Given the description of an element on the screen output the (x, y) to click on. 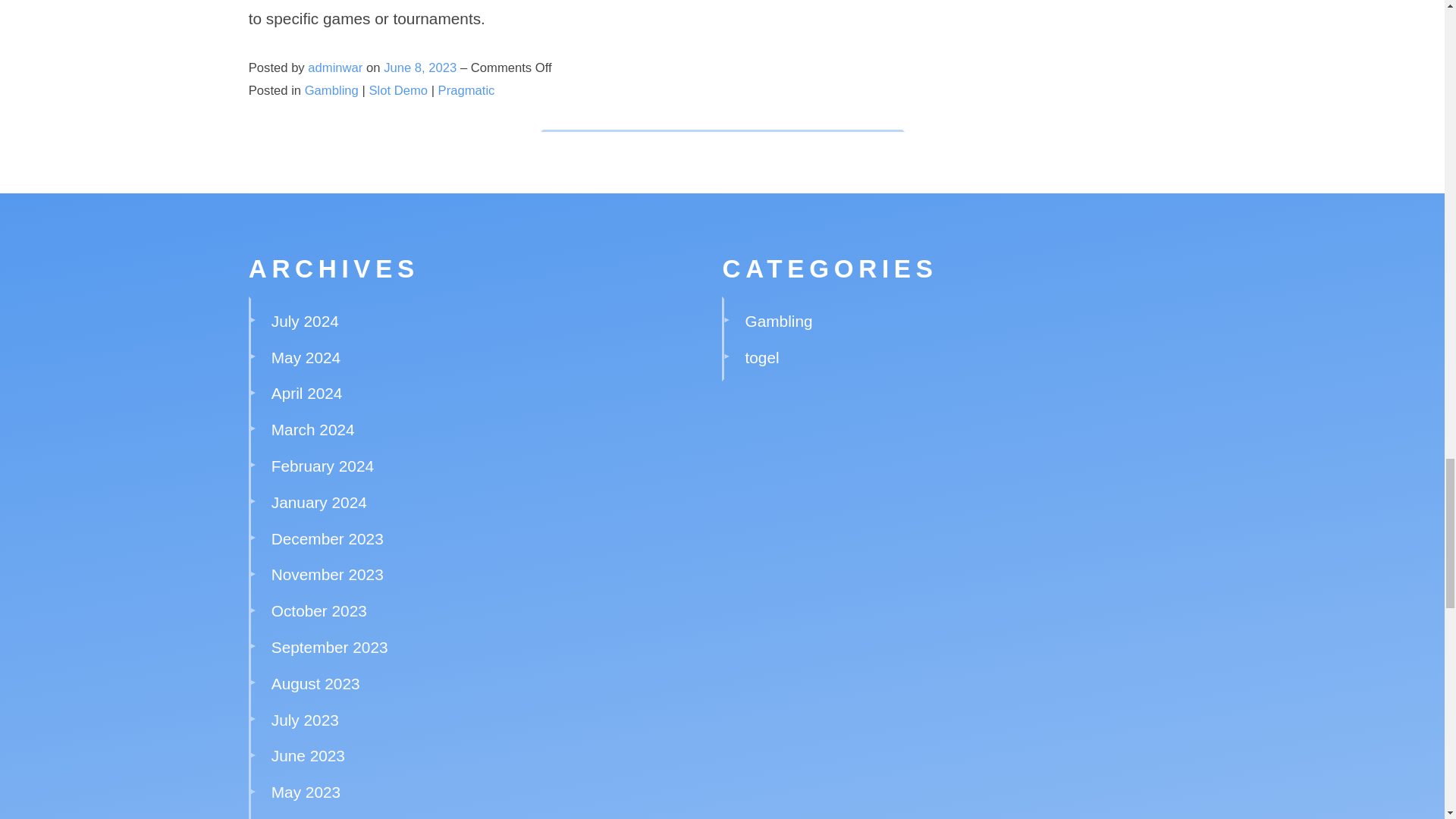
August 2023 (314, 683)
September 2023 (329, 647)
May 2023 (305, 791)
Slot Demo (399, 90)
December 2023 (327, 538)
June 8, 2023 (422, 67)
October 2023 (318, 610)
April 2024 (306, 393)
Pragmatic (466, 90)
January 2024 (318, 502)
July 2024 (304, 321)
July 2023 (304, 719)
June 2023 (307, 755)
November 2023 (327, 574)
March 2024 (312, 429)
